Given the description of an element on the screen output the (x, y) to click on. 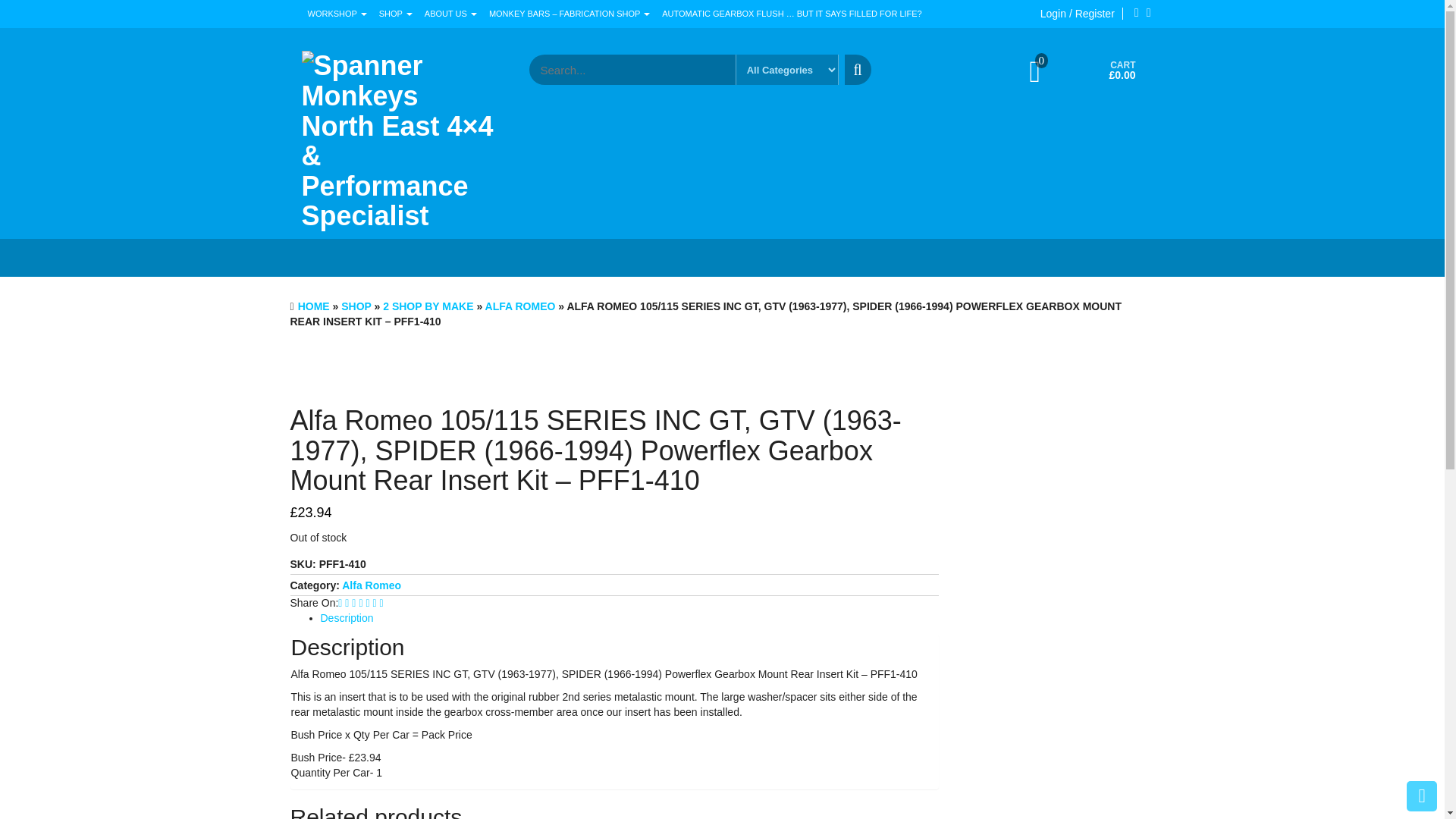
WORKSHOP (336, 13)
2 SHOP BY MAKE (427, 306)
Workshop (336, 13)
SHOP (395, 13)
HOME (314, 306)
SHOP (355, 306)
ABOUT US (451, 13)
